Given the description of an element on the screen output the (x, y) to click on. 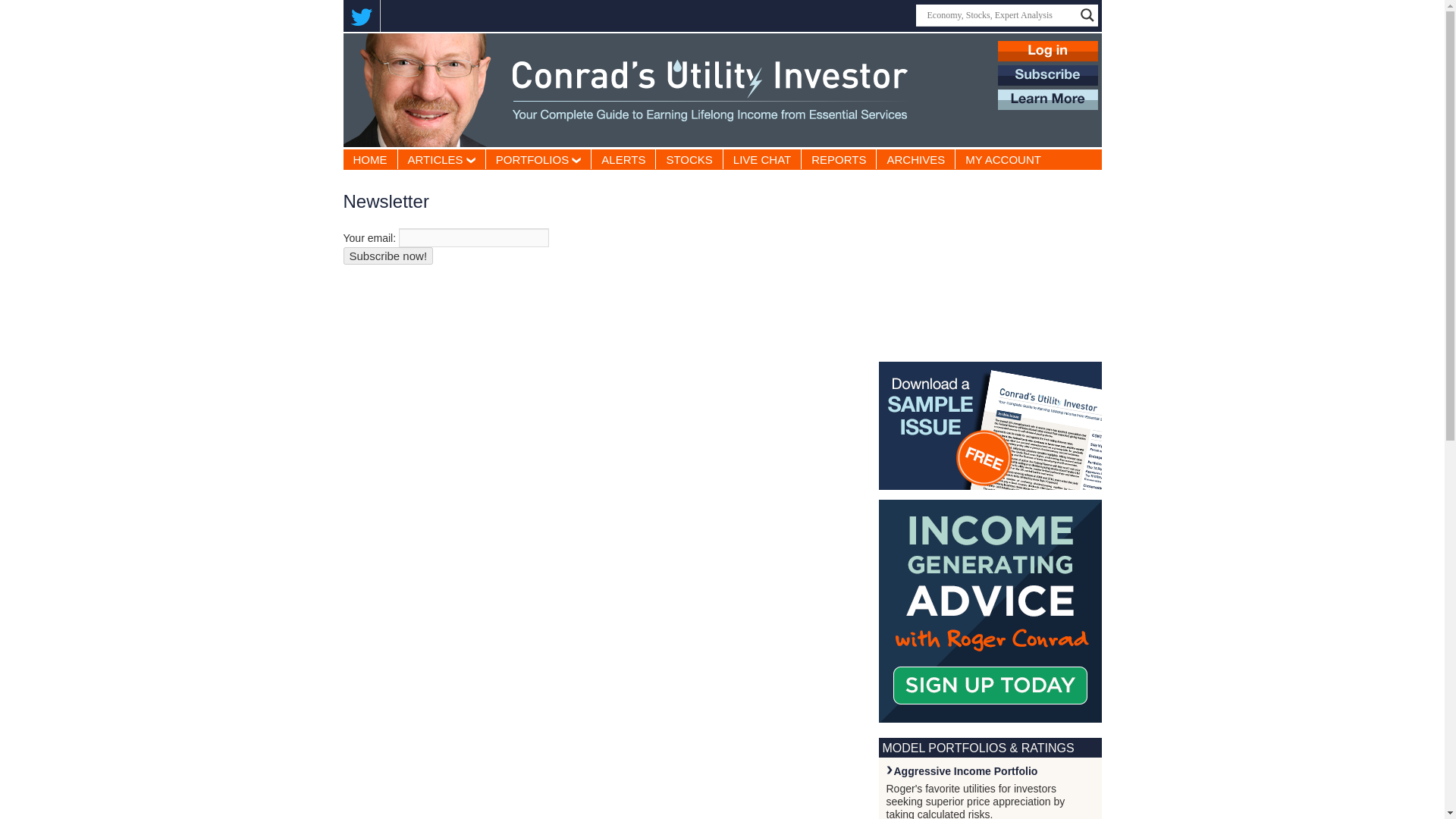
HOME (369, 157)
PORTFOLIOS (538, 157)
Subscribe now! (387, 255)
Aggressive Income Portfolio (964, 770)
Subscribe now! (387, 255)
STOCKS (689, 157)
ARTICLES (440, 157)
ALERTS (623, 157)
MY ACCOUNT (1003, 157)
REPORTS (839, 157)
LIVE CHAT (761, 157)
ARCHIVES (915, 157)
